Given the description of an element on the screen output the (x, y) to click on. 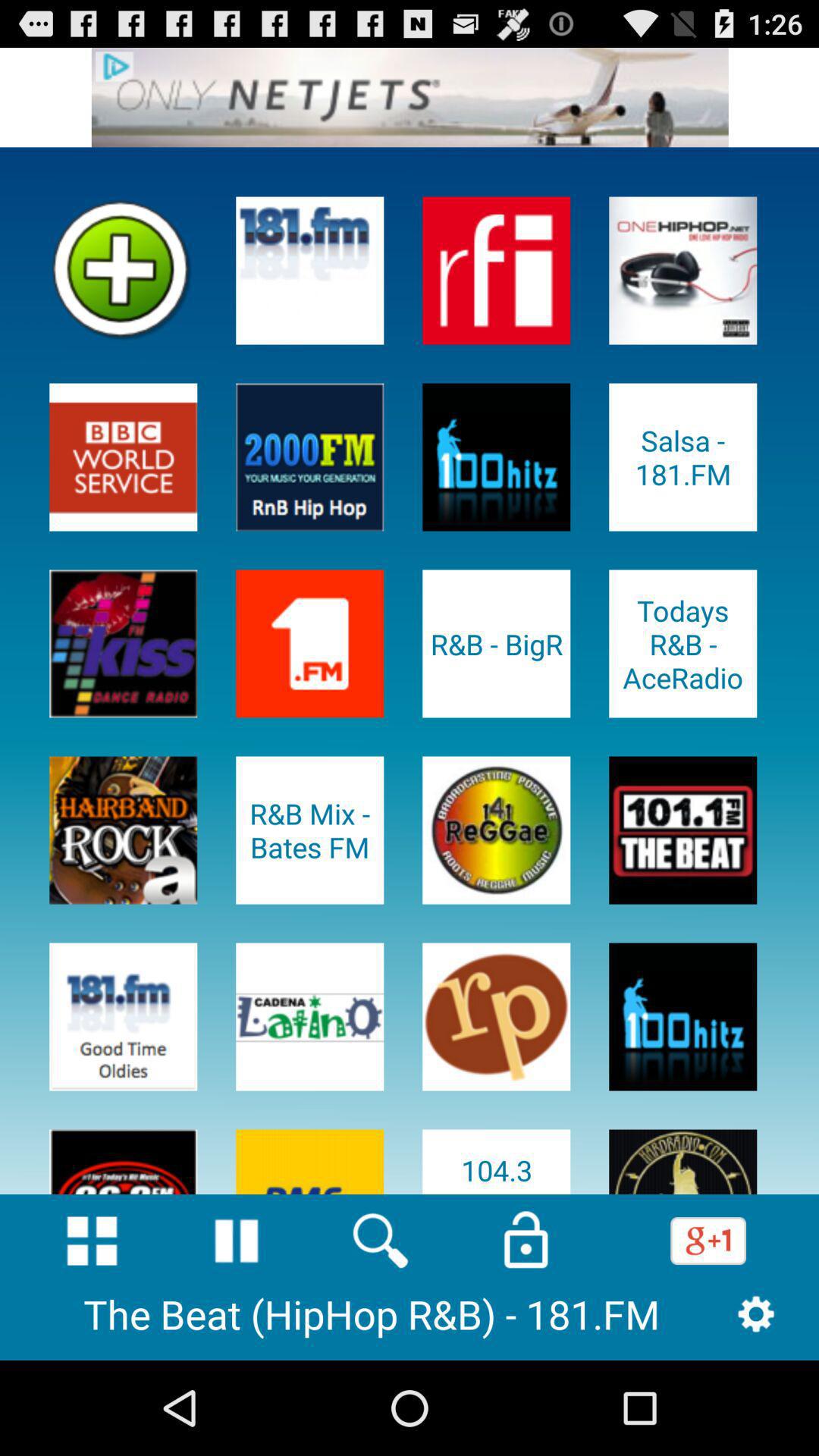
go to advertisement (409, 97)
